Given the description of an element on the screen output the (x, y) to click on. 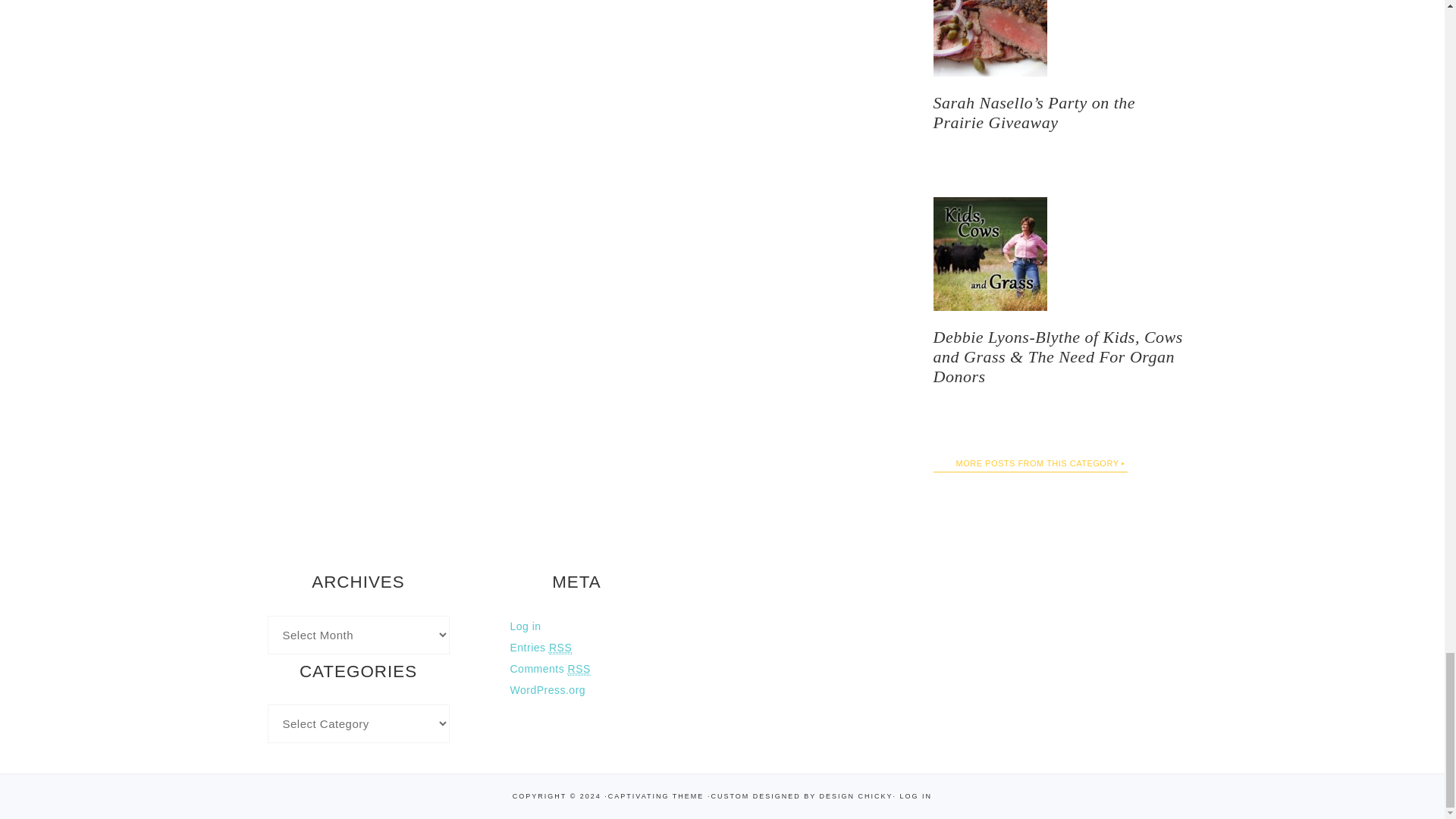
Really Simple Syndication (560, 647)
Women In Ag (1029, 463)
Really Simple Syndication (579, 668)
